Given the description of an element on the screen output the (x, y) to click on. 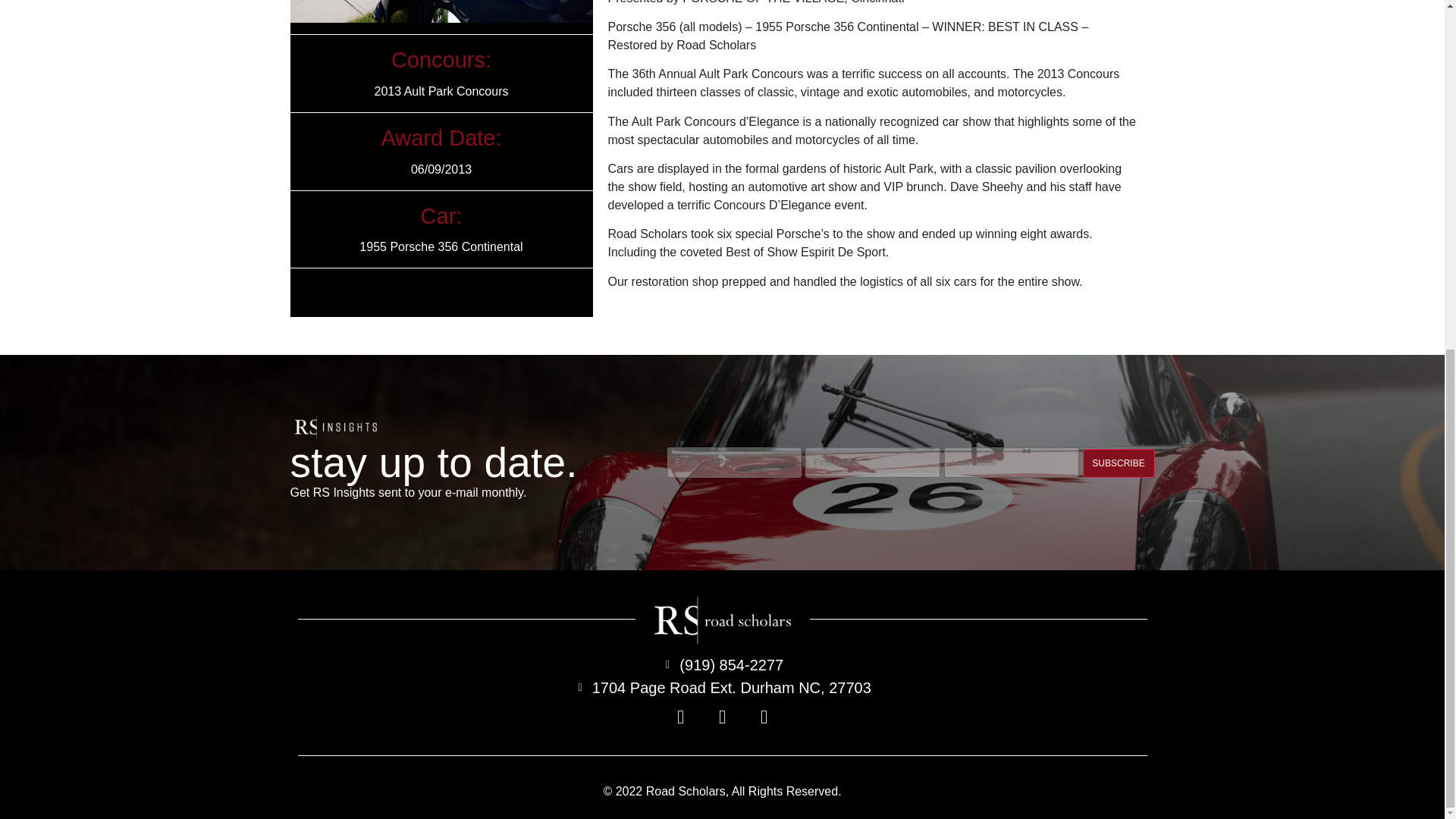
SUBSCRIBE (1118, 462)
